Given the description of an element on the screen output the (x, y) to click on. 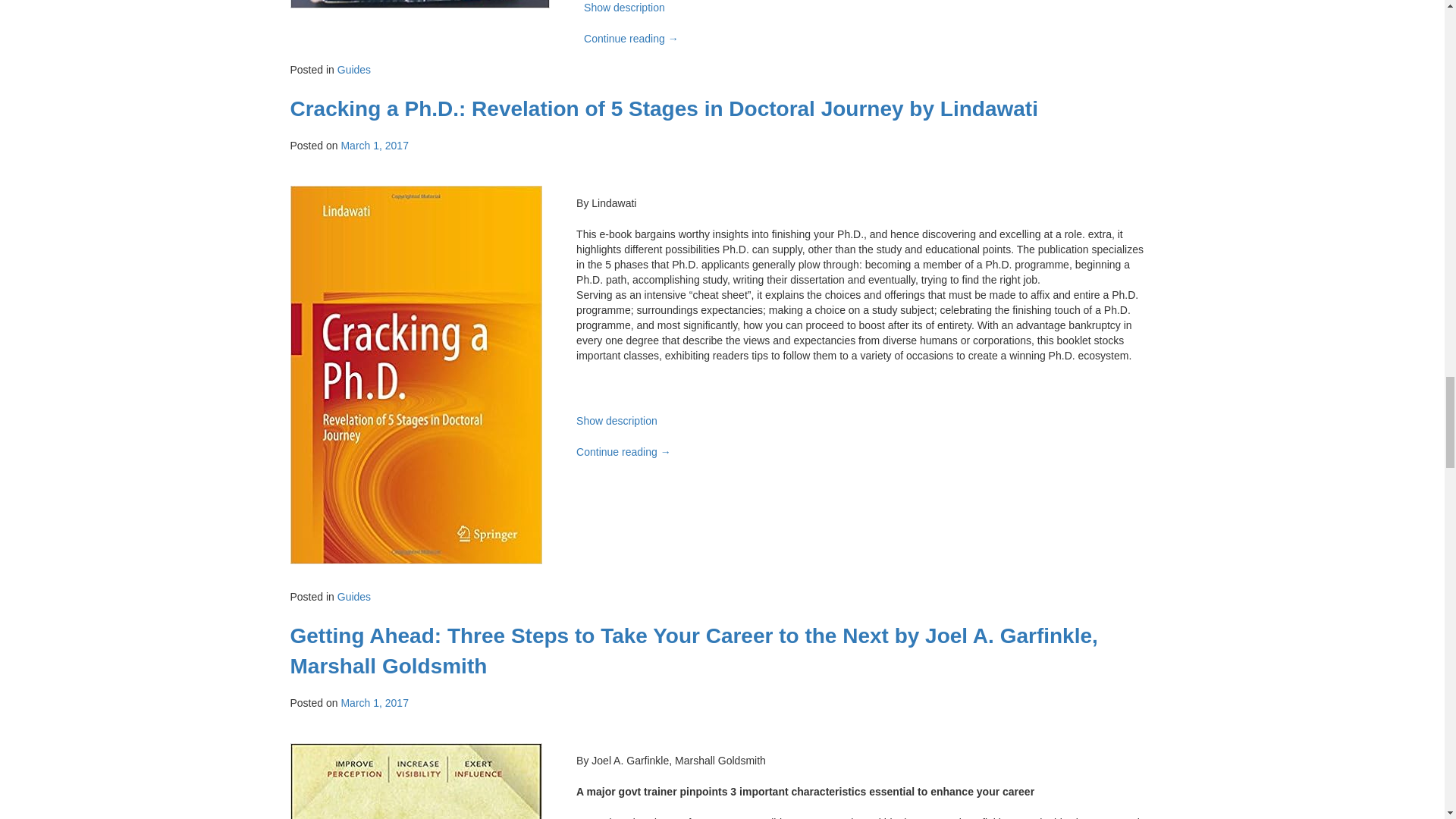
Show description (624, 7)
Guides (354, 69)
